Given the description of an element on the screen output the (x, y) to click on. 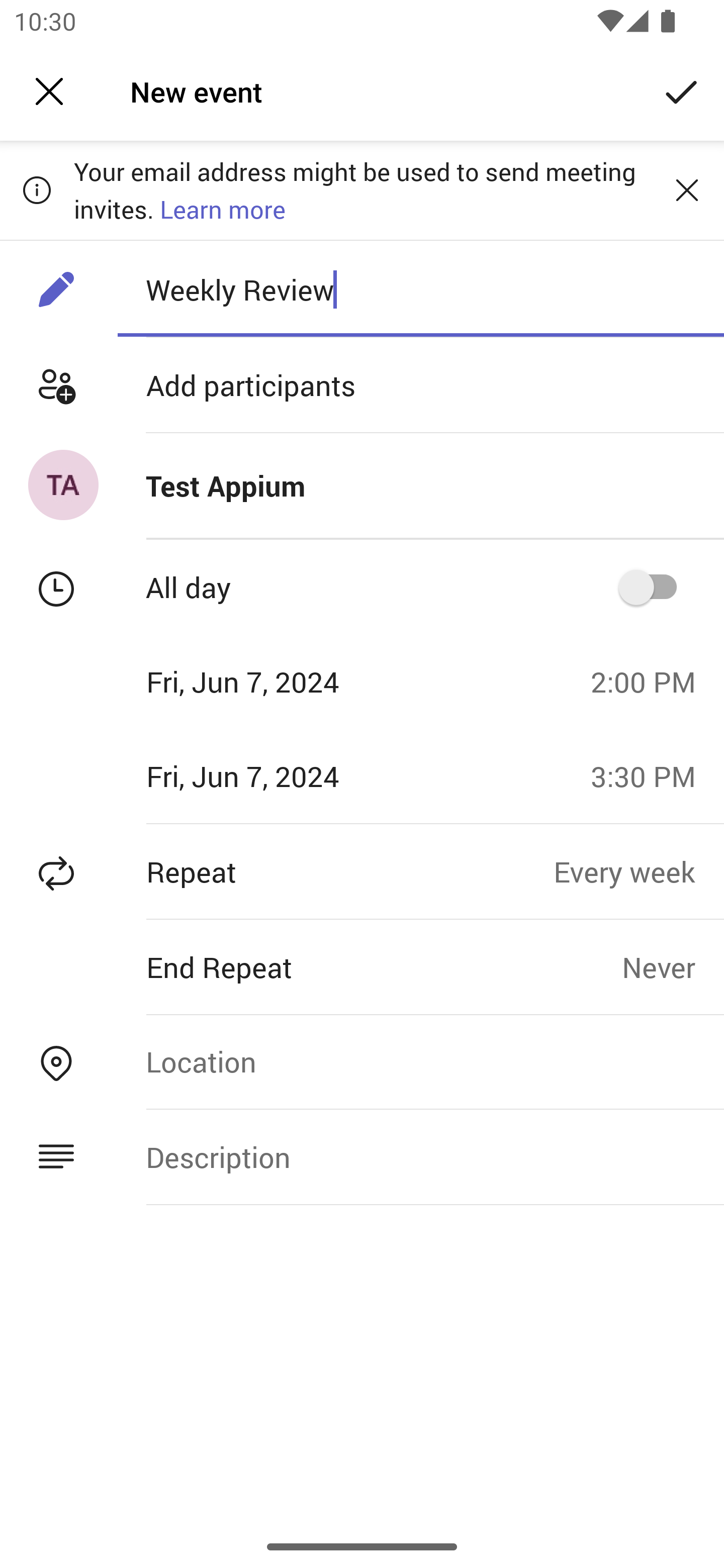
Back (49, 91)
Send invite (681, 90)
Dismiss banner (687, 189)
Weekly Review (420, 289)
Add participants Add participants option (362, 384)
All day (654, 586)
Fri, Jun 7, 2024 Starts Friday Jun 07, 2024 (288, 681)
2:00 PM Start time 2:00 PM (650, 681)
Fri, Jun 7, 2024 Ends Friday Jun 07, 2024 (288, 776)
3:30 PM End time 3:30 PM (650, 776)
Repeat (276, 871)
Every week Repeat Every week (638, 871)
End Repeat (310, 967)
Never End repeat Never (672, 967)
Location (420, 1061)
Description (420, 1157)
